Given the description of an element on the screen output the (x, y) to click on. 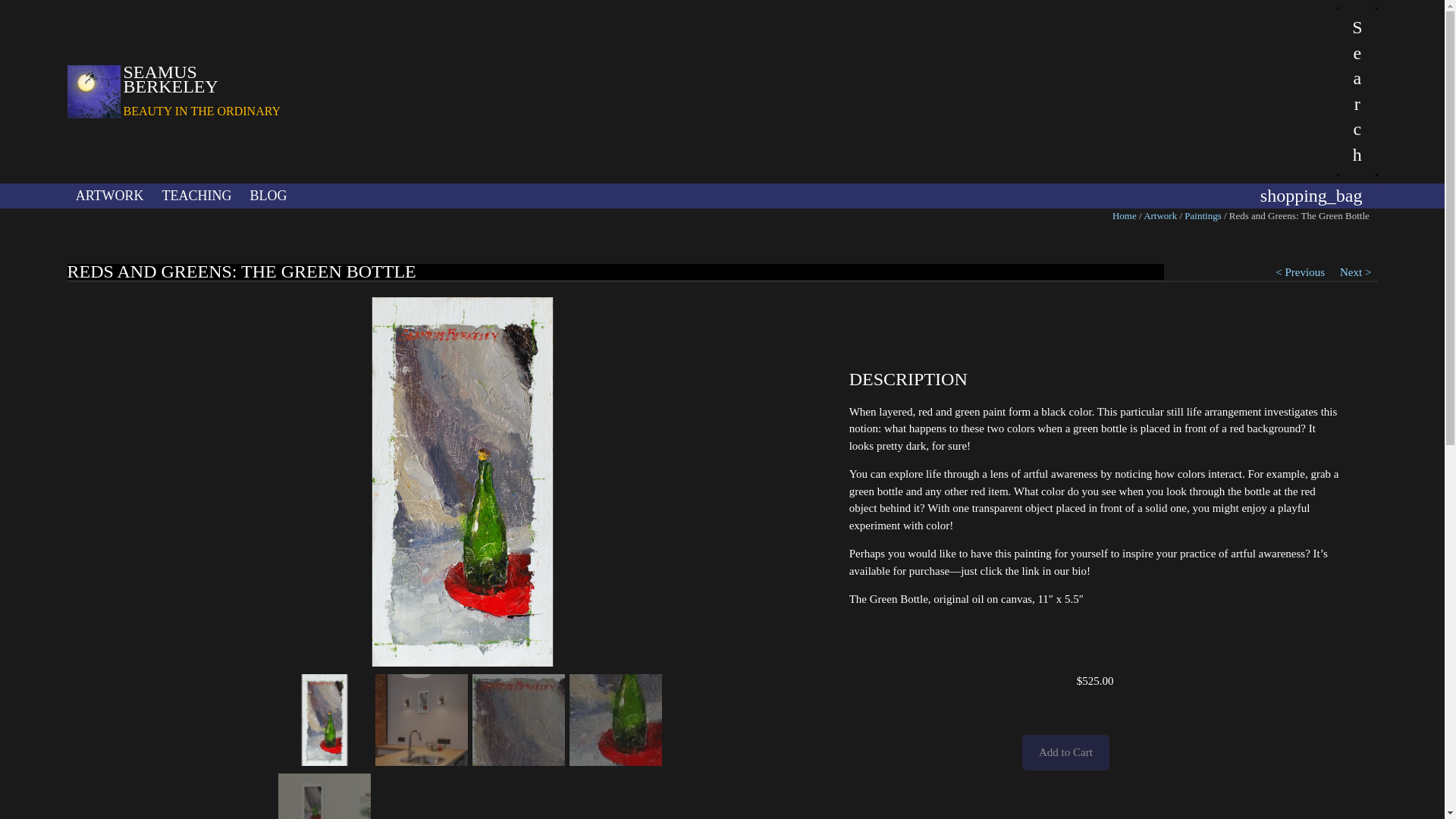
Search (1356, 91)
Add to Cart (1065, 752)
Paintings (1203, 215)
Artwork (1159, 215)
ARTWORK (109, 195)
BLOG (268, 195)
TEACHING (196, 195)
Home (1124, 215)
